Given the description of an element on the screen output the (x, y) to click on. 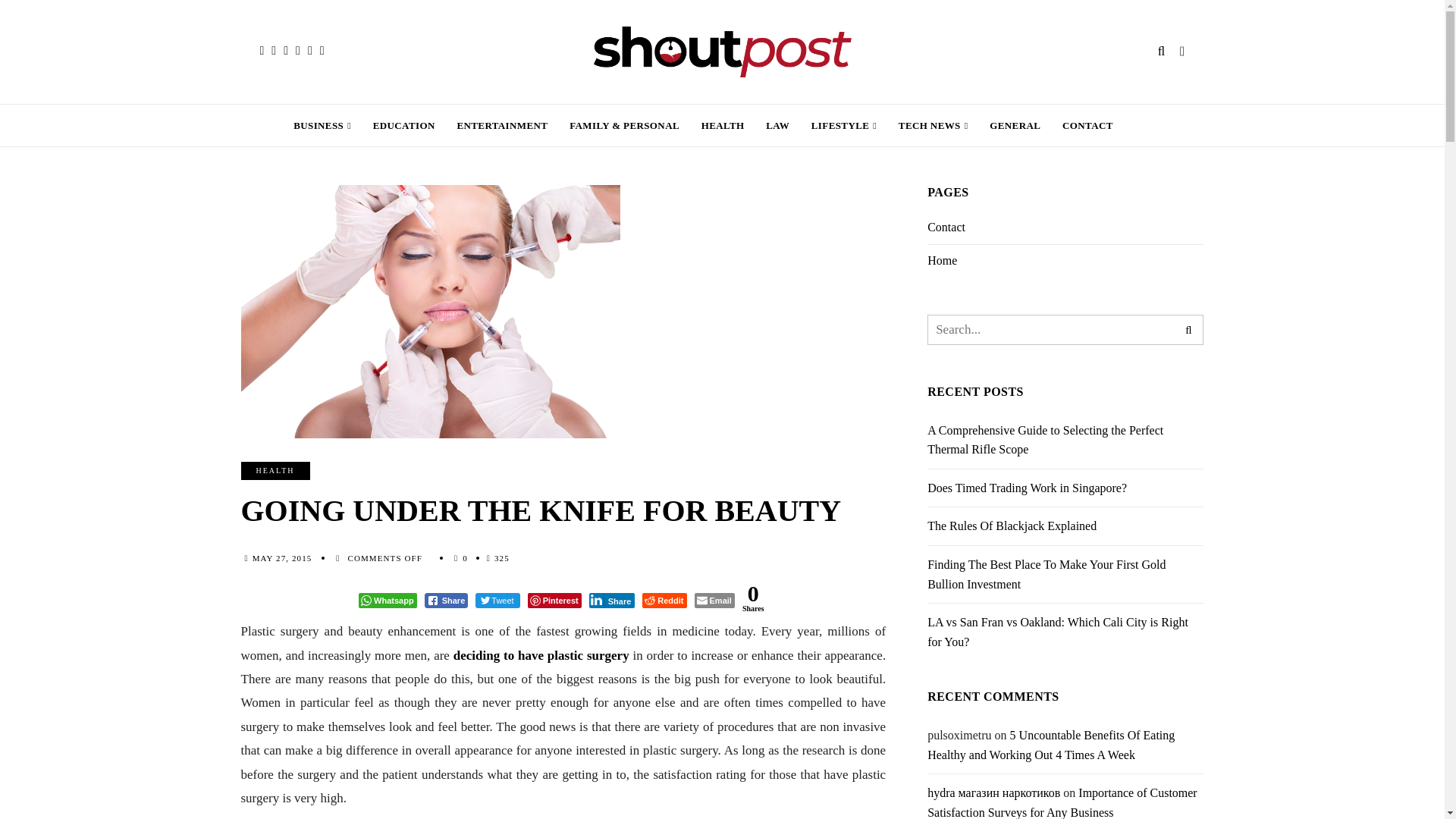
CONTACT (1087, 125)
EDUCATION (403, 125)
GENERAL (1015, 125)
LIFESTYLE (843, 125)
BUSINESS (322, 125)
HEALTH (722, 125)
Like (465, 557)
TECH NEWS (933, 125)
ENTERTAINMENT (502, 125)
